Given the description of an element on the screen output the (x, y) to click on. 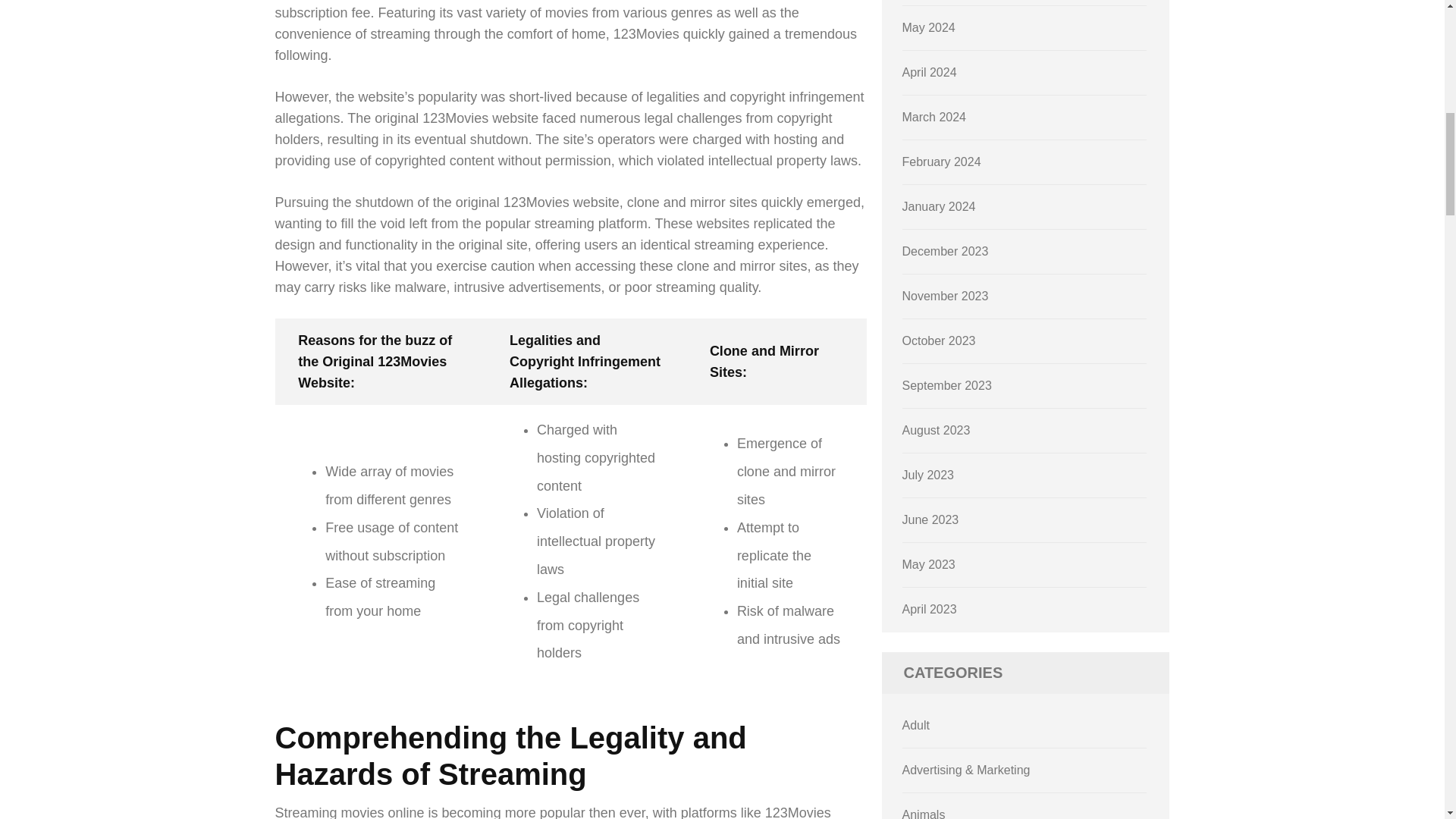
August 2023 (936, 430)
May 2024 (928, 27)
June 2023 (930, 519)
December 2023 (945, 250)
September 2023 (946, 385)
July 2023 (928, 474)
January 2024 (938, 205)
November 2023 (945, 295)
March 2024 (934, 116)
February 2024 (941, 161)
